Given the description of an element on the screen output the (x, y) to click on. 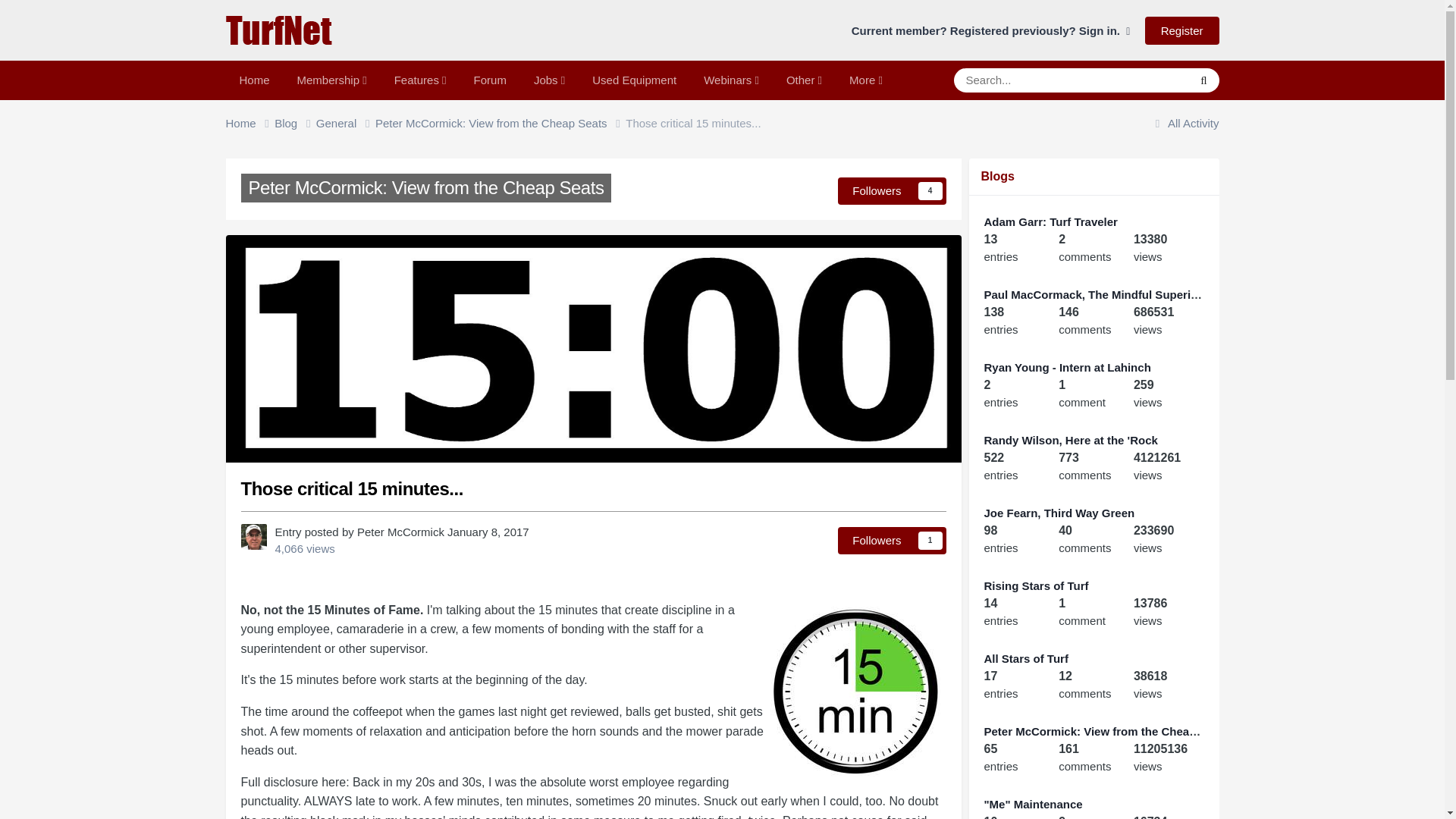
Sign in to follow this (891, 541)
Home (254, 79)
More (865, 79)
Jobs (548, 79)
Features (420, 79)
Webinars (731, 79)
Go to the blog Peter McCormick: View from the Cheap Seats (426, 187)
Register (1182, 30)
Sign in to follow this (891, 191)
Forum (489, 79)
